Given the description of an element on the screen output the (x, y) to click on. 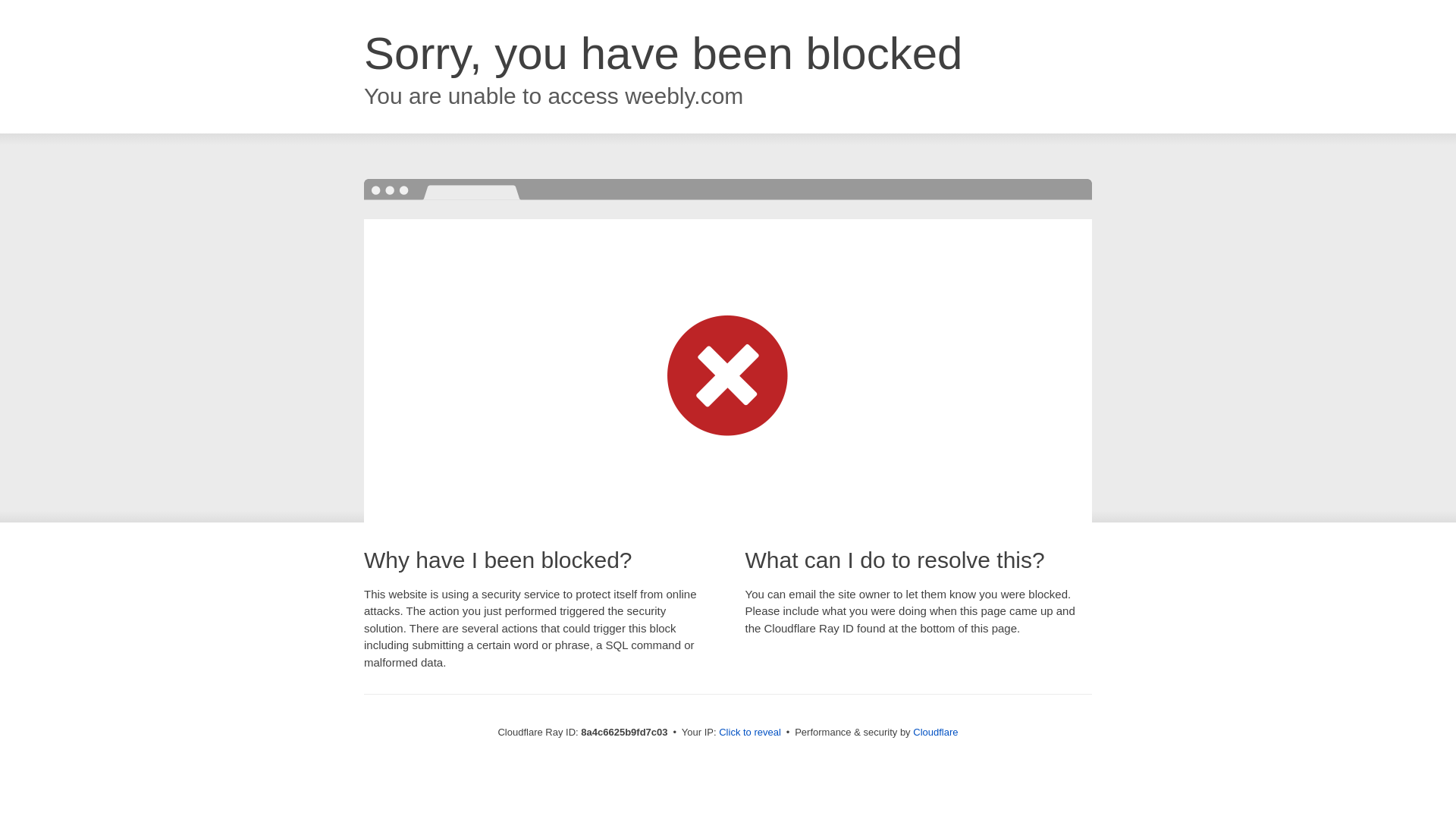
Click to reveal (749, 732)
Cloudflare (935, 731)
